Given the description of an element on the screen output the (x, y) to click on. 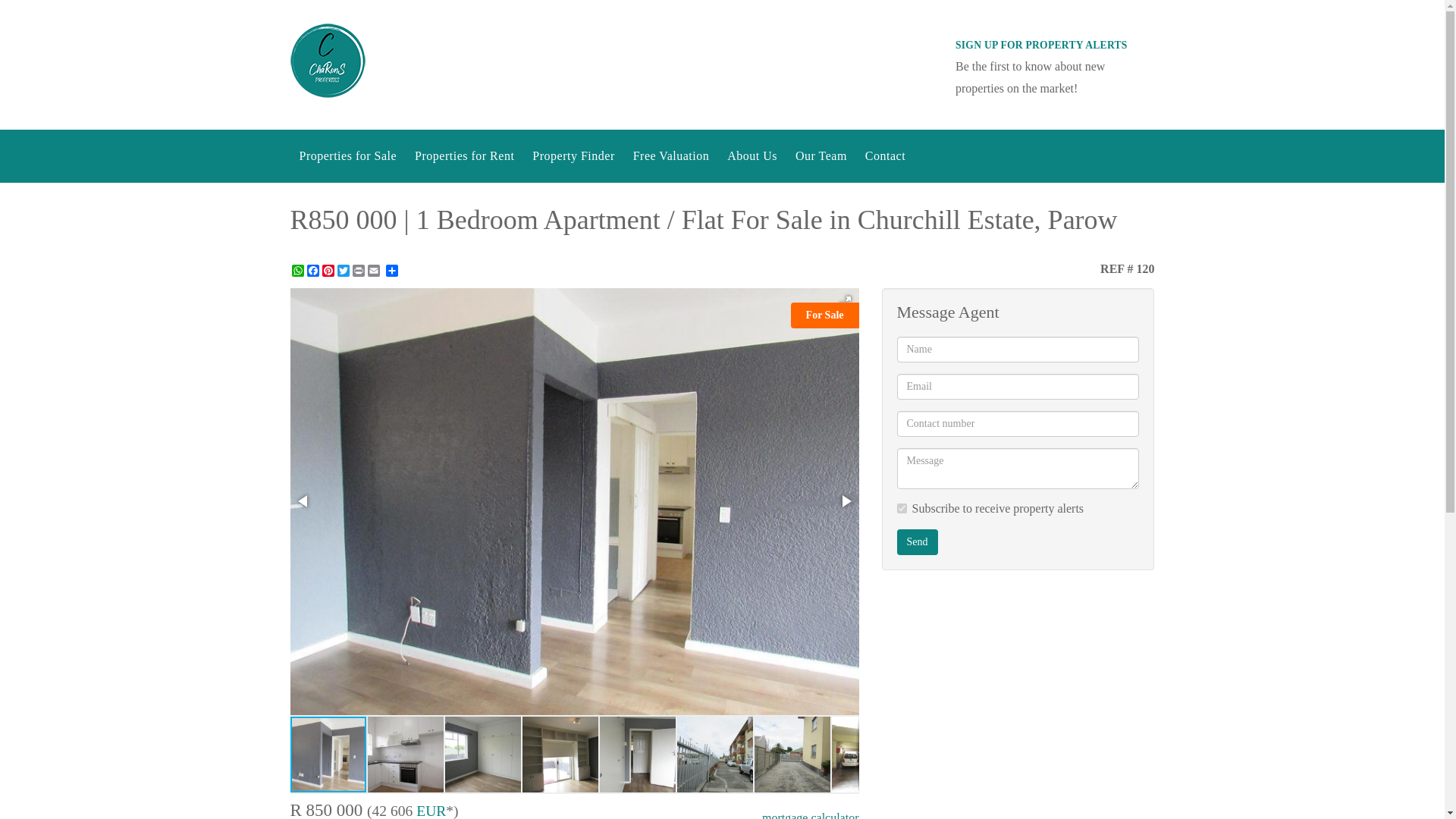
Contact (885, 155)
Properties for Rent (464, 155)
on (900, 508)
EUR (430, 811)
Properties for Sale (347, 155)
mortgage calculator (810, 815)
SIGN UP FOR PROPERTY ALERTS (1040, 43)
Facebook (312, 270)
Pinterest (327, 270)
Our Team (821, 155)
Free Valuation (670, 155)
Print (357, 270)
google map (1017, 709)
Twitter (342, 270)
Send (916, 542)
